Given the description of an element on the screen output the (x, y) to click on. 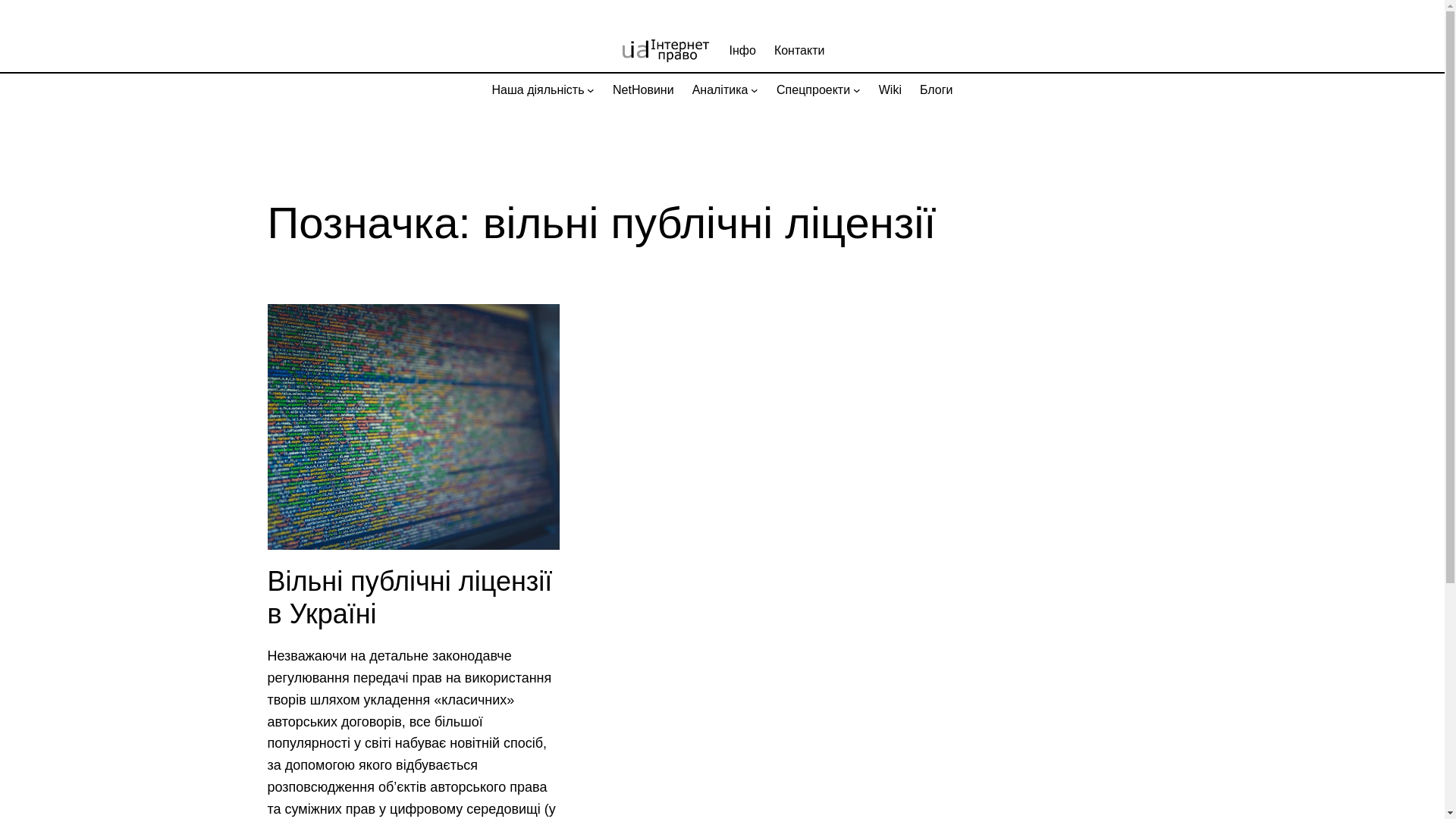
Wiki Element type: text (889, 90)
